Given the description of an element on the screen output the (x, y) to click on. 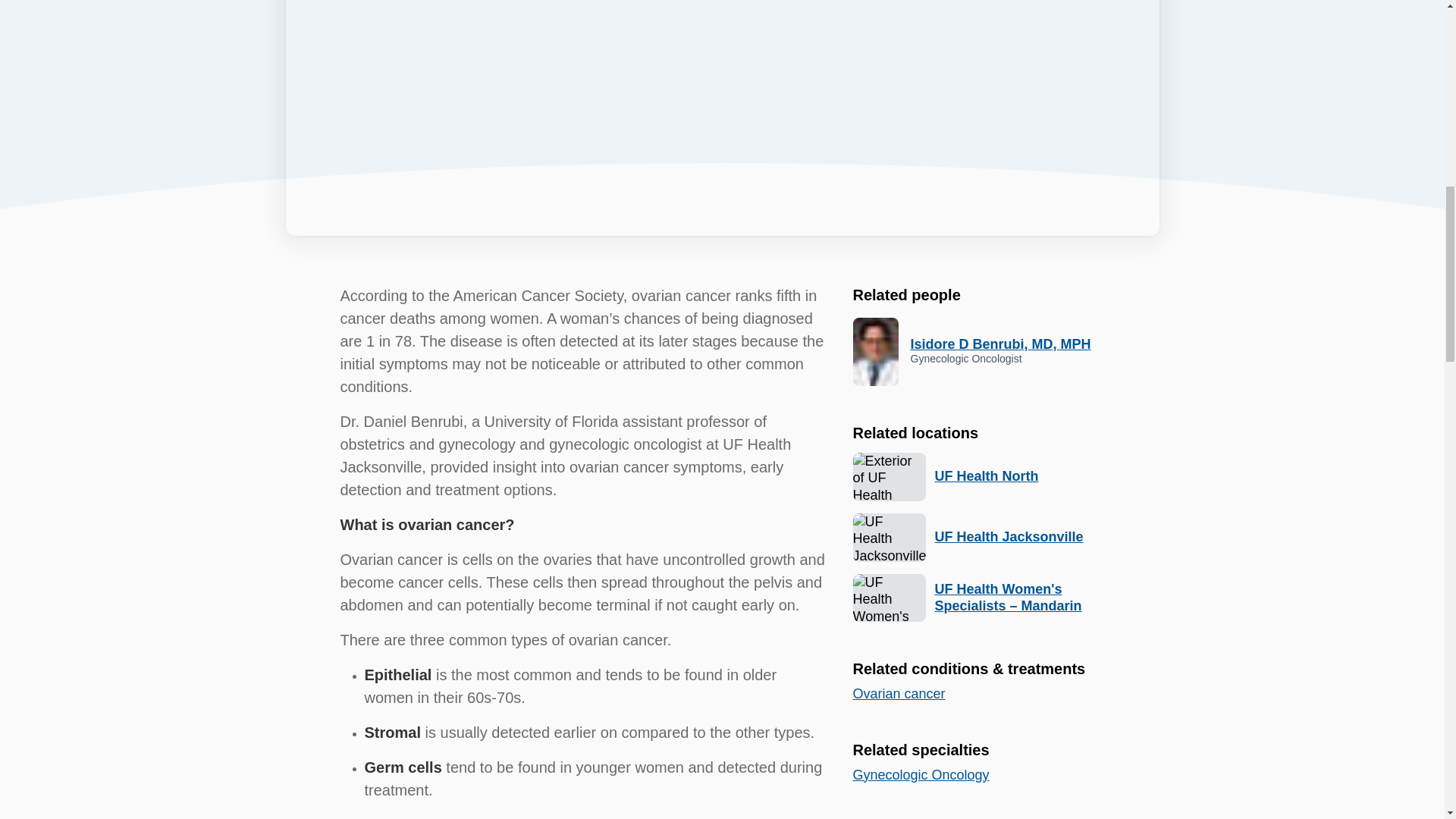
Gynecologic Oncology (919, 774)
Isidore D Benrubi, MD, MPH (1000, 344)
UF Health Jacksonville (1008, 537)
Ovarian cancer (897, 693)
UF Health North (986, 476)
